Given the description of an element on the screen output the (x, y) to click on. 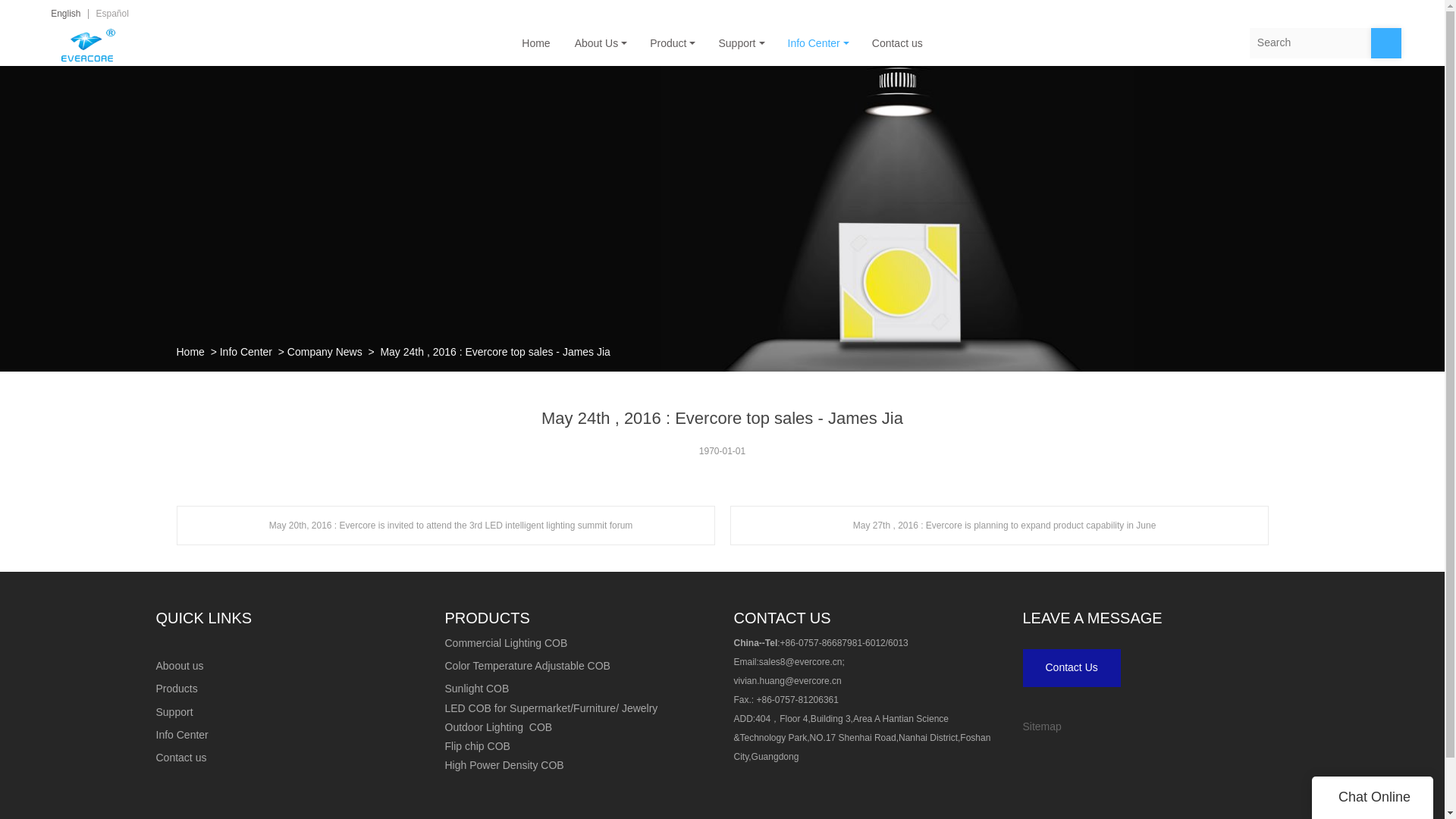
Home (189, 351)
Aboout us (179, 665)
Product (671, 42)
Products (176, 688)
English (65, 13)
Support (740, 42)
Support (174, 711)
Info Center (181, 734)
Contact us (180, 757)
Info Center (245, 351)
Contact us (897, 42)
About Us (600, 42)
